Given the description of an element on the screen output the (x, y) to click on. 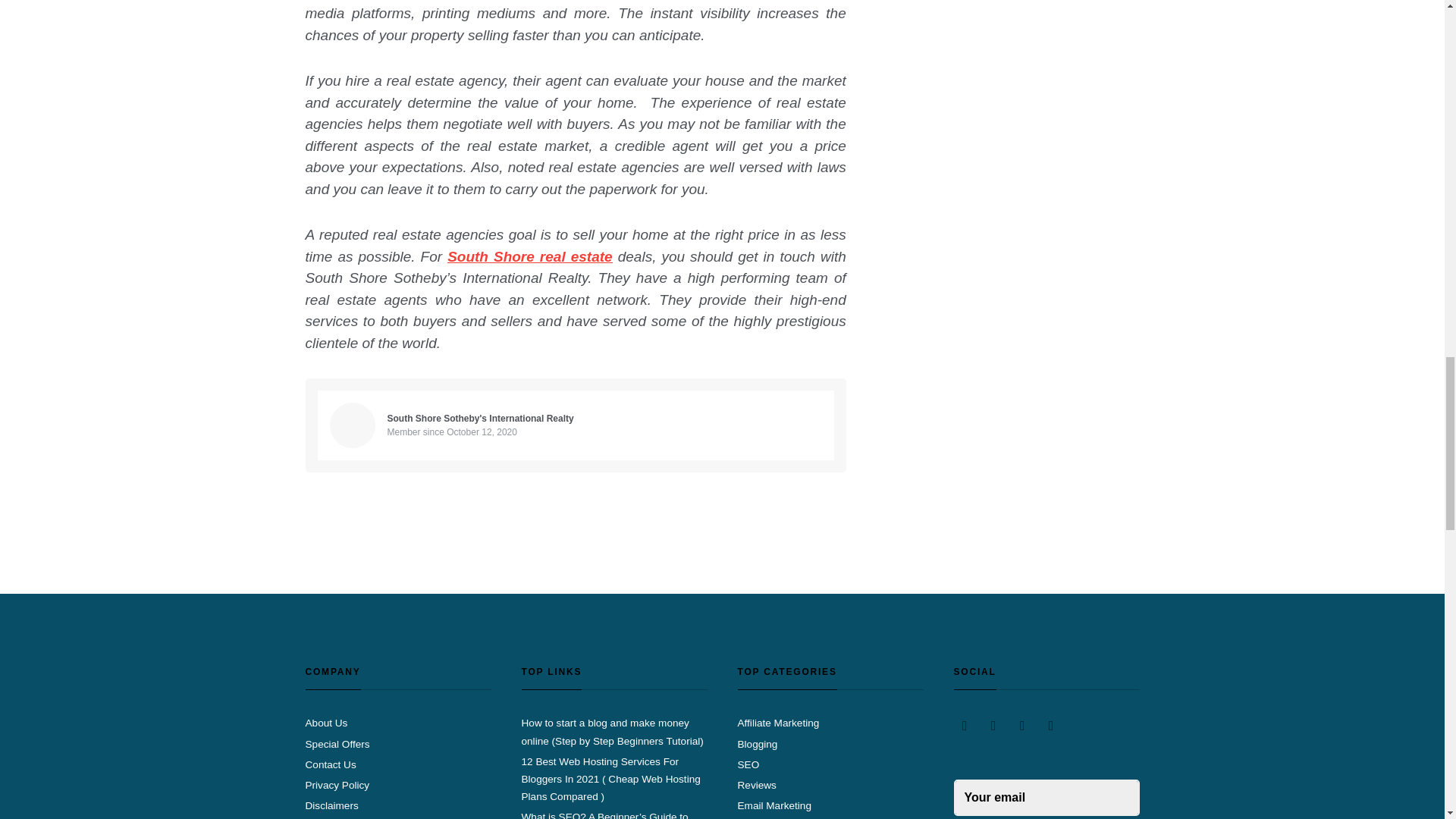
South Shore Sotheby's International Realty  (481, 418)
South Shore real estate (529, 256)
